Given the description of an element on the screen output the (x, y) to click on. 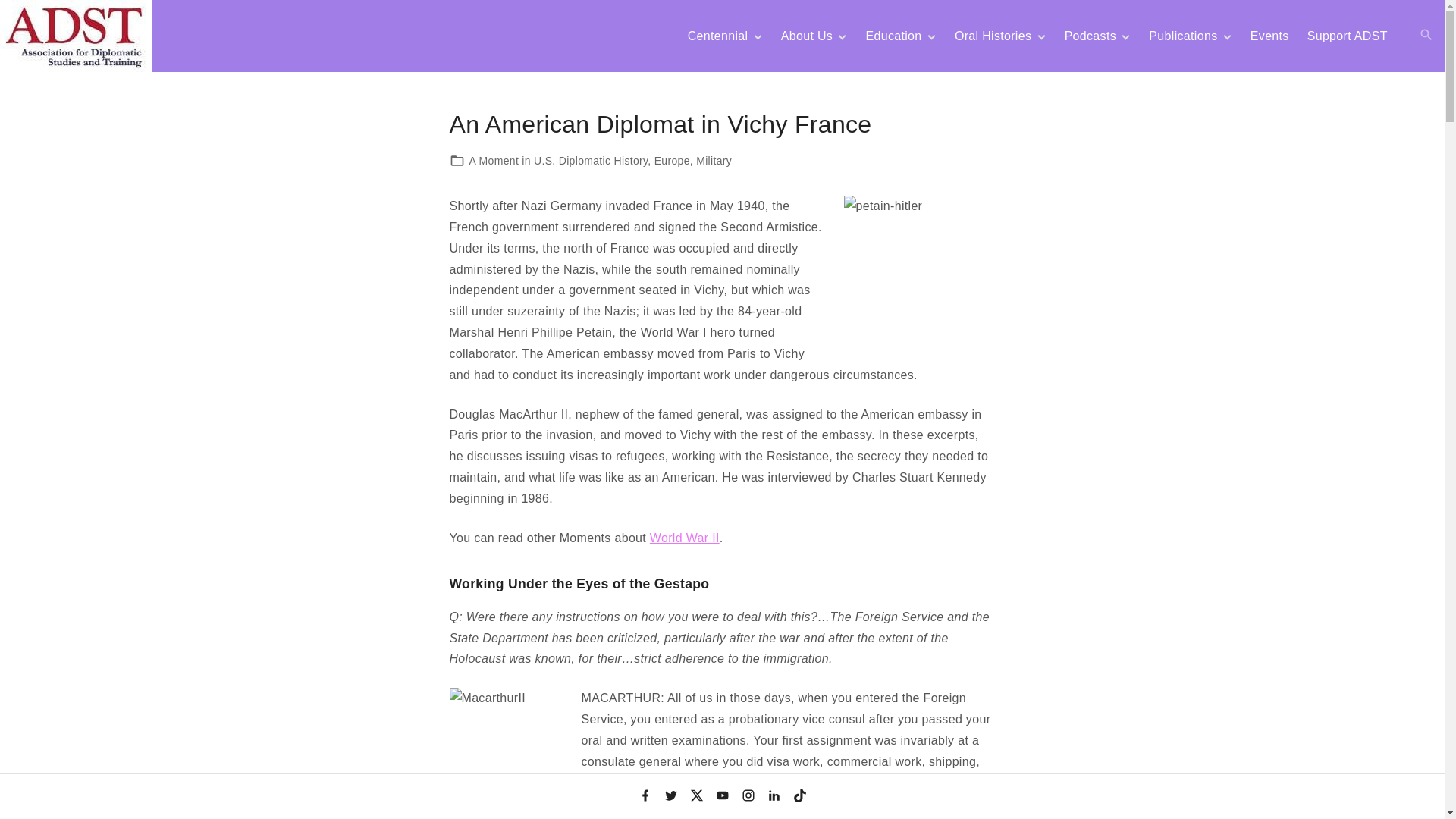
About Us (807, 36)
Publications (1183, 36)
Podcasts (1091, 36)
Education (893, 36)
Oral Histories (993, 36)
Centennial (718, 36)
